Given the description of an element on the screen output the (x, y) to click on. 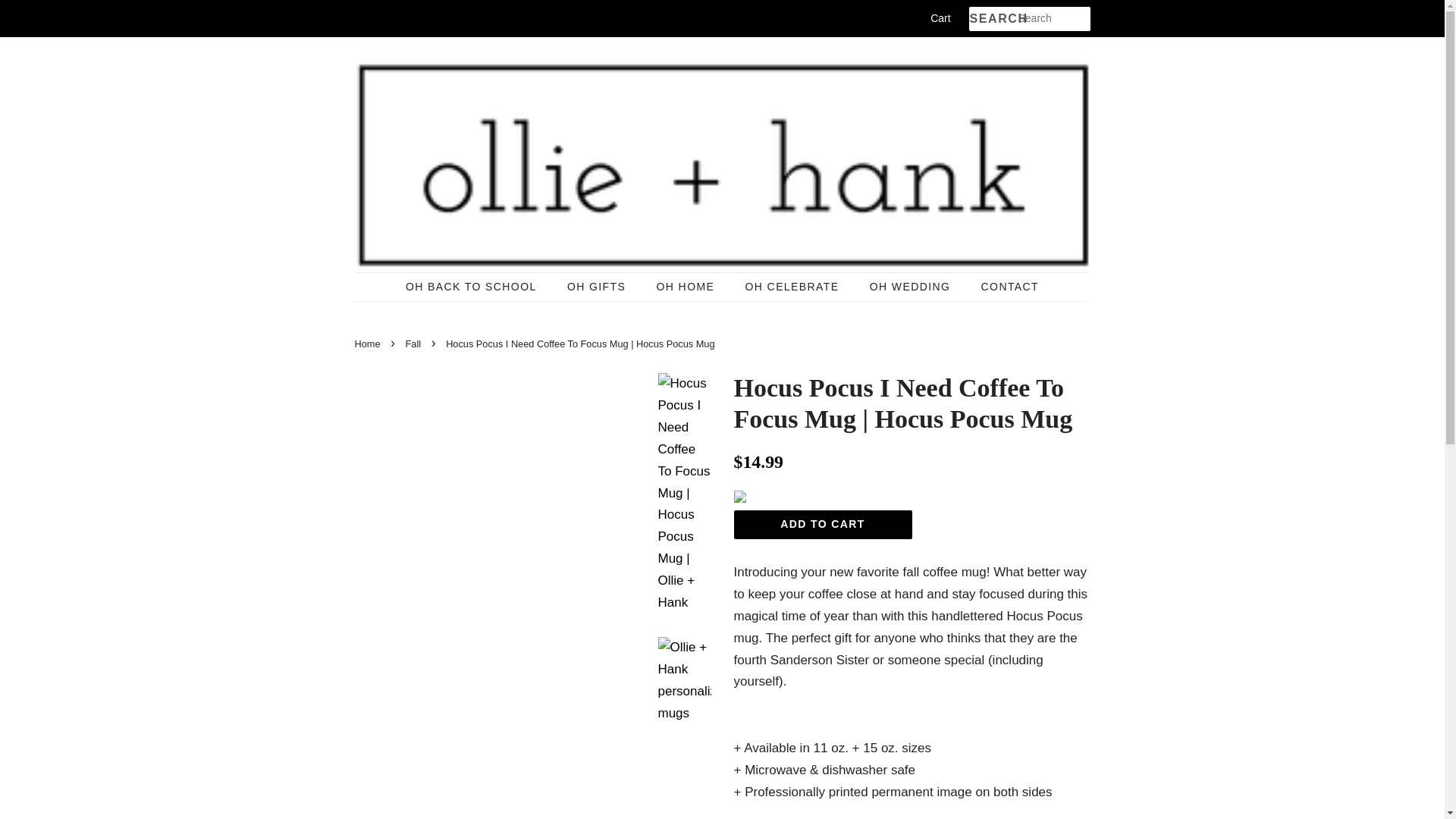
SEARCH (993, 18)
Back to the frontpage (369, 343)
Cart (940, 18)
